Given the description of an element on the screen output the (x, y) to click on. 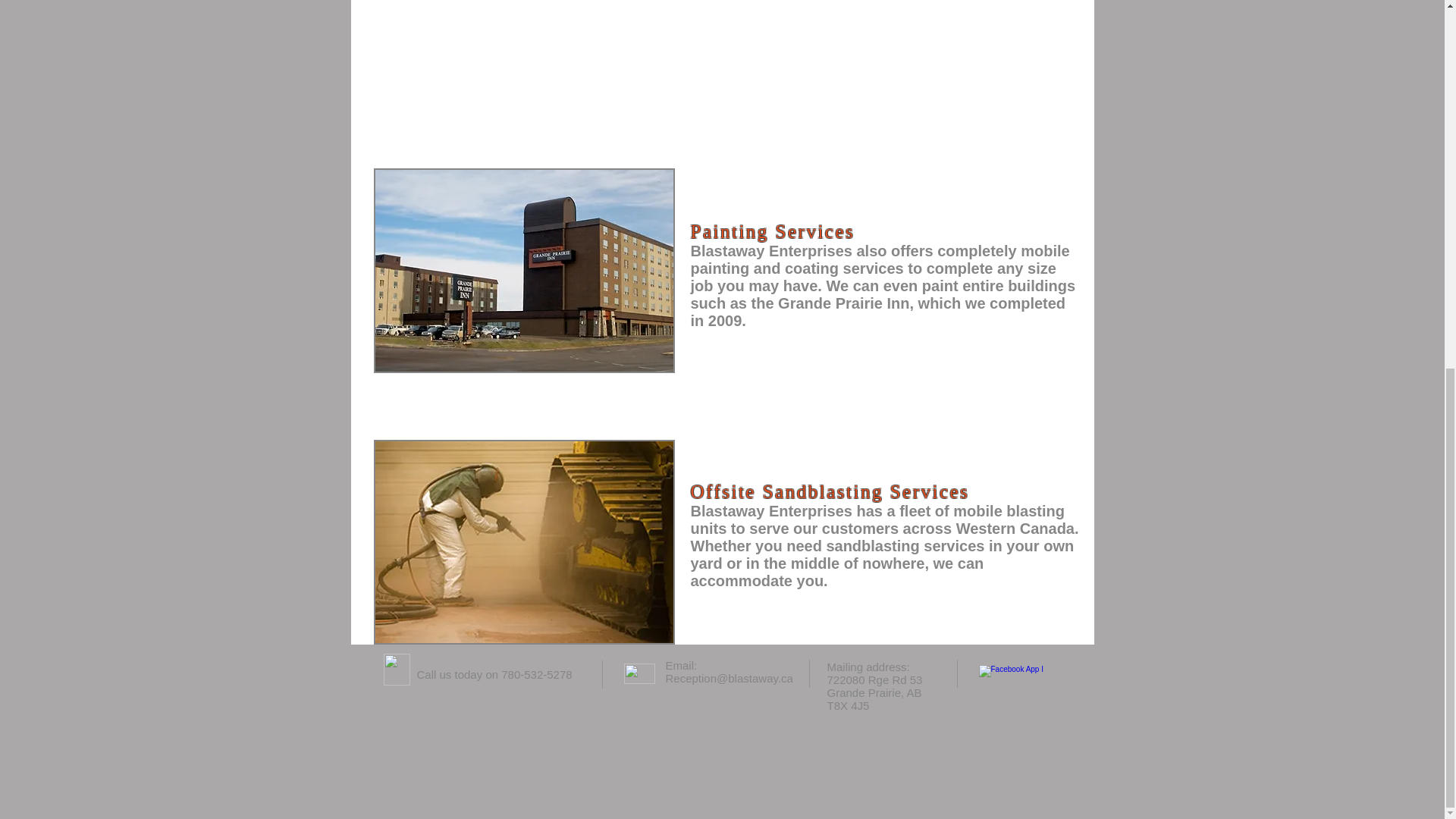
Blasting sand in booth.jpg (523, 541)
External YouTube (721, 57)
Mailing address: (867, 666)
After GPINN.jpg (523, 270)
